Given the description of an element on the screen output the (x, y) to click on. 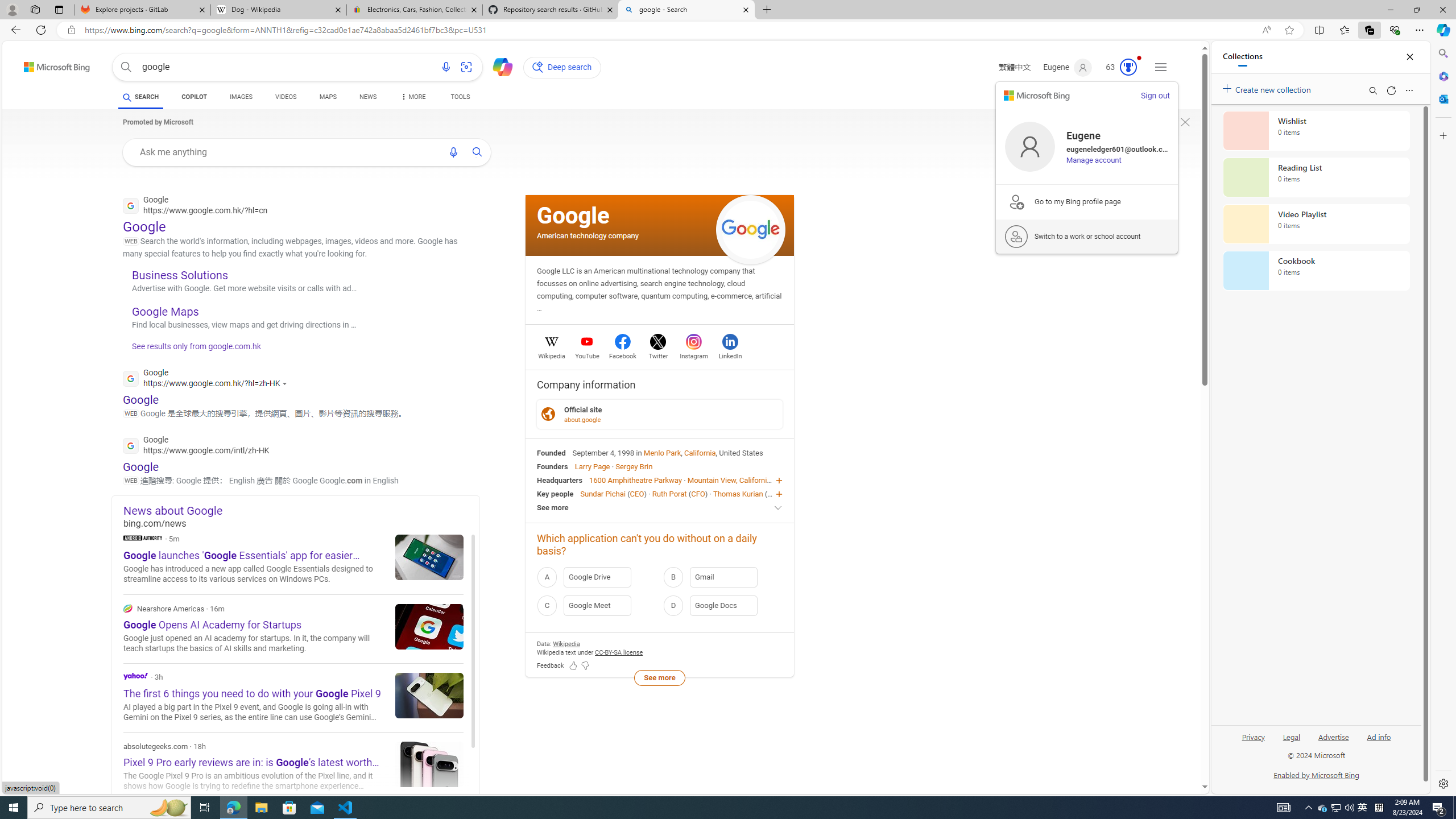
NEWS (367, 96)
Menlo Park (662, 452)
Search more (1179, 753)
B Gmail (722, 576)
CFO (697, 492)
Ruth Porat (669, 492)
Android Authority (142, 537)
